Given the description of an element on the screen output the (x, y) to click on. 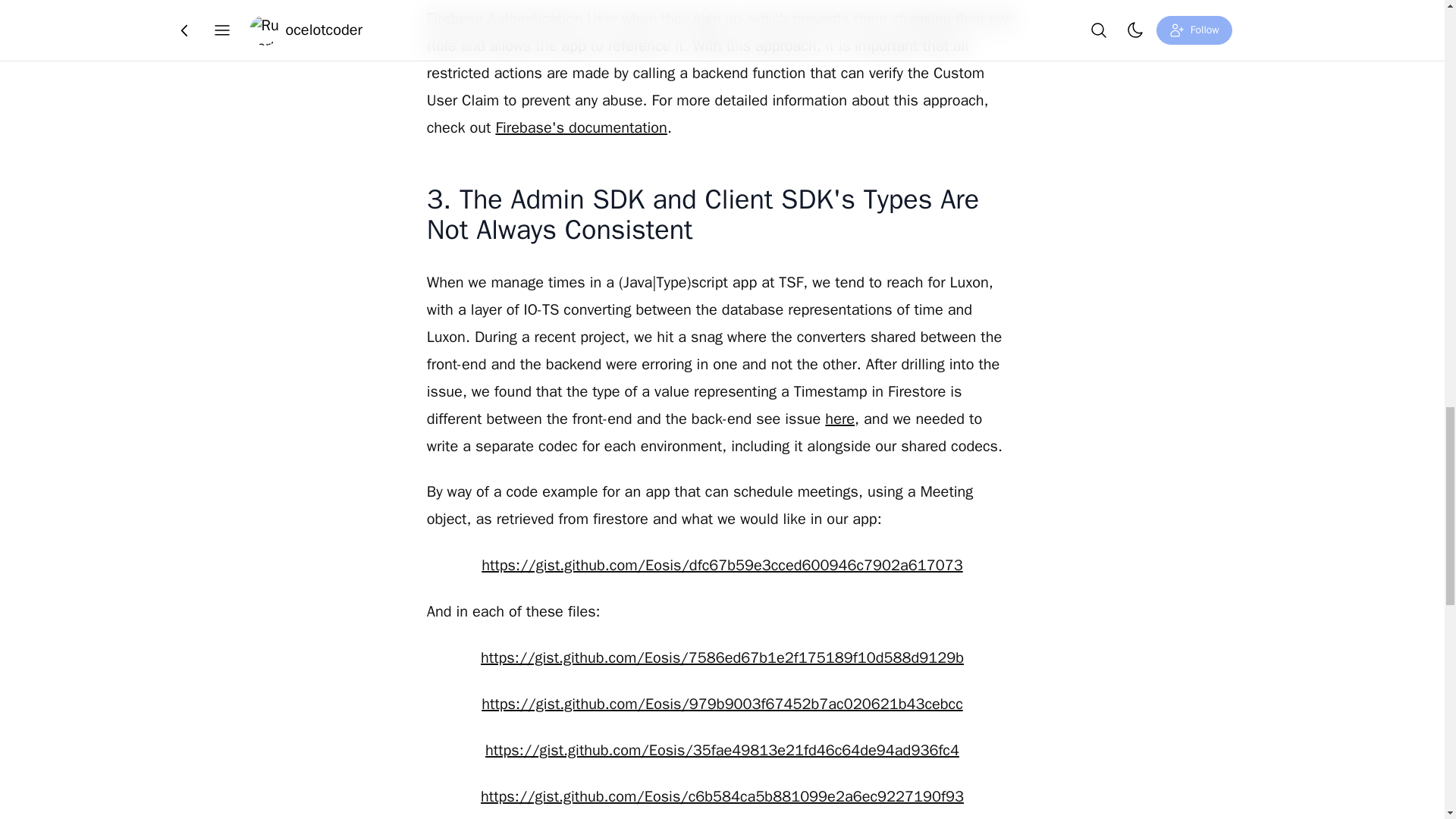
Firebase's documentation (580, 127)
here (839, 418)
